Given the description of an element on the screen output the (x, y) to click on. 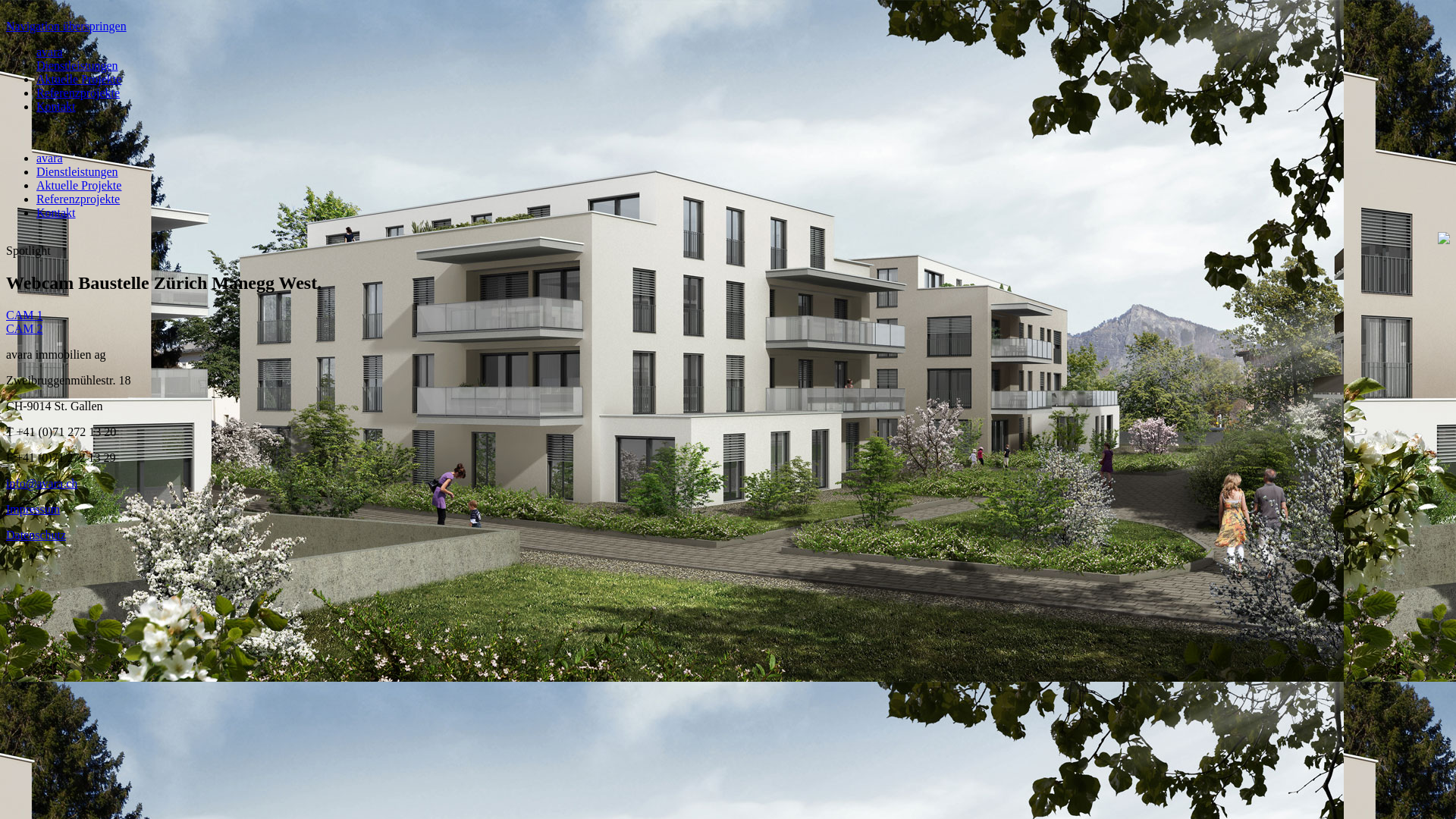
Kontakt Element type: text (55, 212)
info@avara.ch Element type: text (41, 482)
Impressum Element type: text (32, 508)
Dienstleistungen Element type: text (77, 65)
  Element type: text (7, 131)
Kontakt Element type: text (55, 106)
CAM 2 Element type: text (24, 328)
avara Element type: text (49, 51)
Aktuelle Projekte Element type: text (78, 78)
Referenzprojekte Element type: text (77, 198)
Aktuelle Projekte Element type: text (78, 184)
Referenzprojekte Element type: text (77, 92)
Dienstleistungen Element type: text (77, 171)
Datenschutz Element type: text (35, 534)
CAM 1 Element type: text (24, 314)
avara Element type: text (49, 157)
